Given the description of an element on the screen output the (x, y) to click on. 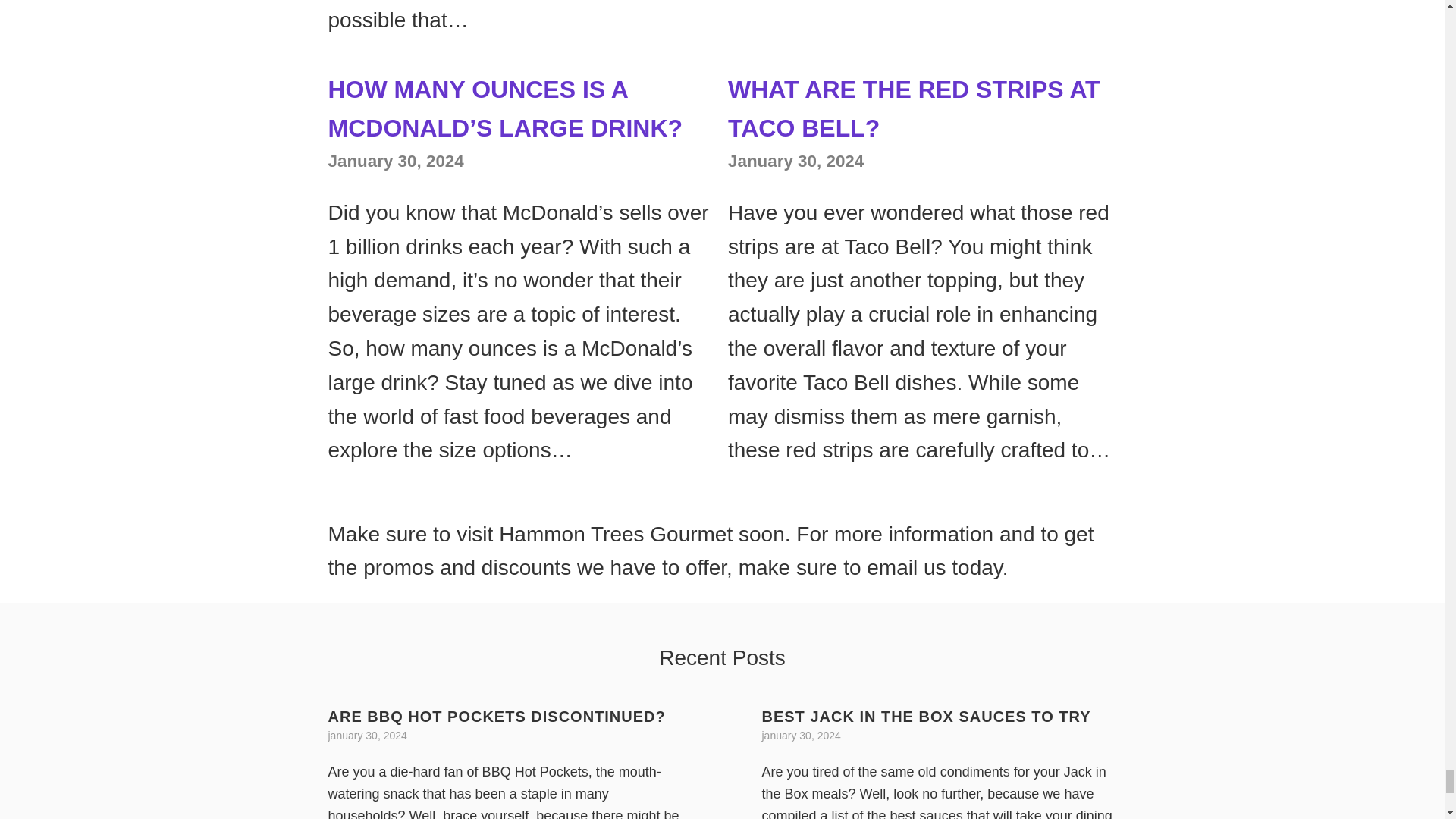
January 30, 2024 (795, 160)
january 30, 2024 (800, 735)
january 30, 2024 (366, 735)
January 30, 2024 (395, 160)
BEST JACK IN THE BOX SAUCES TO TRY (925, 716)
WHAT ARE THE RED STRIPS AT TACO BELL? (914, 108)
ARE BBQ HOT POCKETS DISCONTINUED? (496, 716)
1:26 pm (795, 160)
1:26 pm (395, 160)
